Given the description of an element on the screen output the (x, y) to click on. 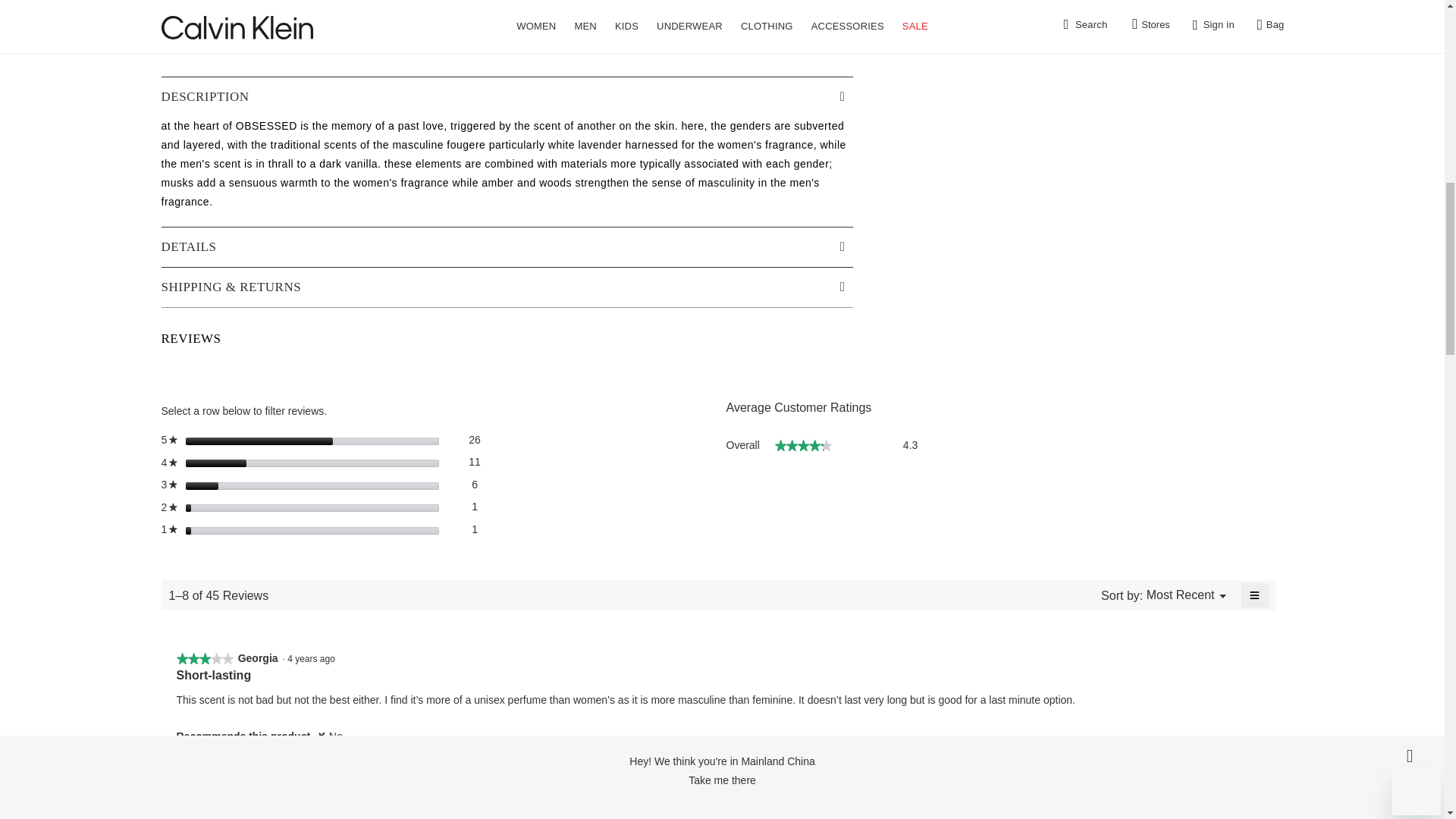
3 out of 5 stars. (192, 658)
3 out of 5 stars. (204, 658)
